Given the description of an element on the screen output the (x, y) to click on. 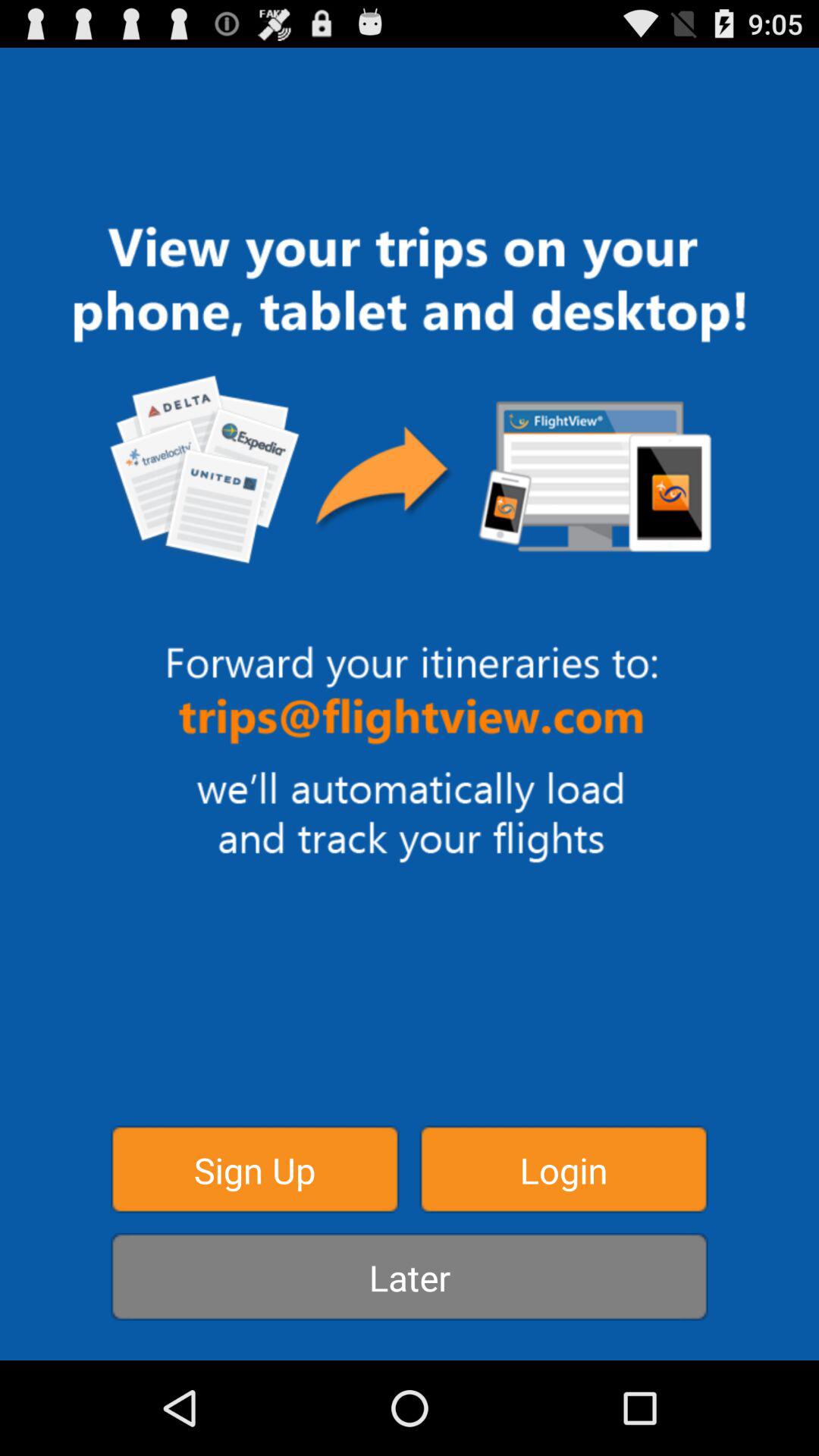
press the button next to the sign up item (563, 1169)
